Given the description of an element on the screen output the (x, y) to click on. 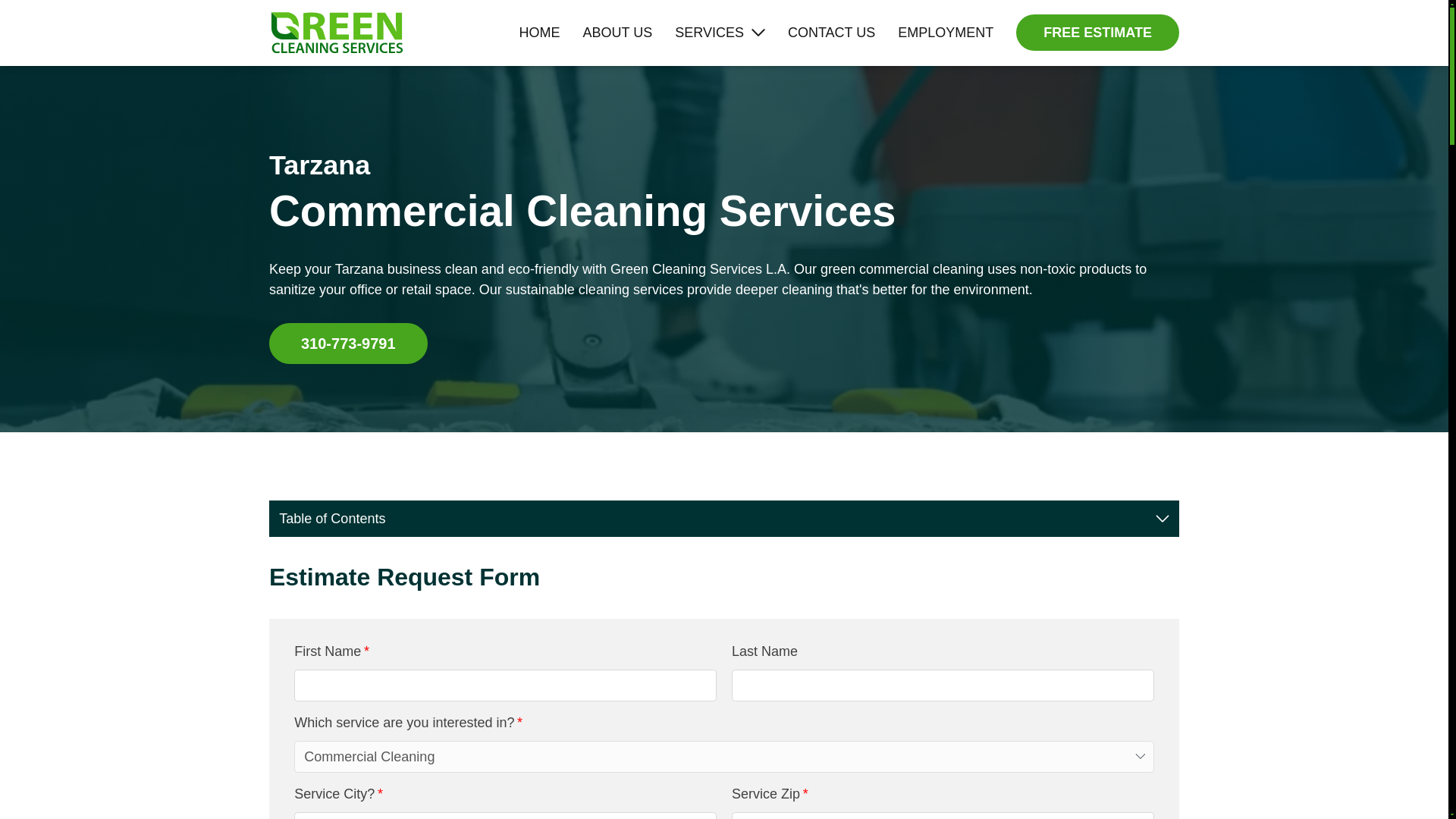
CONTACT US (831, 32)
EMPLOYMENT (945, 32)
FREE ESTIMATE (1097, 32)
Table of Contents (724, 518)
ABOUT US (617, 32)
HOME (539, 32)
310-773-9791 (348, 342)
